Given the description of an element on the screen output the (x, y) to click on. 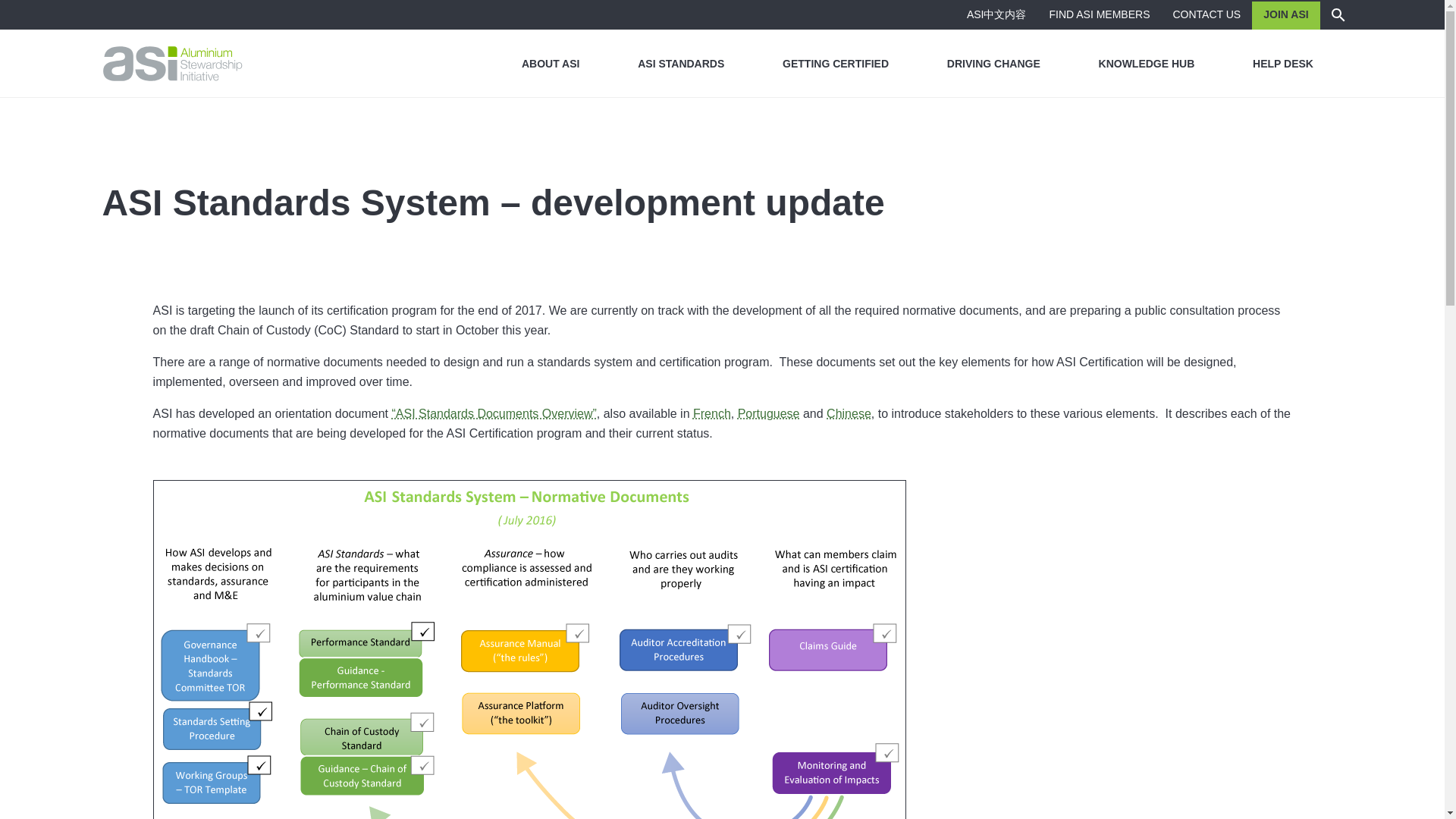
JOIN ASI (1285, 14)
DRIVING CHANGE (992, 63)
ASI STANDARDS (681, 63)
GETTING CERTIFIED (836, 63)
CONTACT US (1206, 14)
ABOUT ASI (550, 63)
FIND ASI MEMBERS (1098, 14)
